Given the description of an element on the screen output the (x, y) to click on. 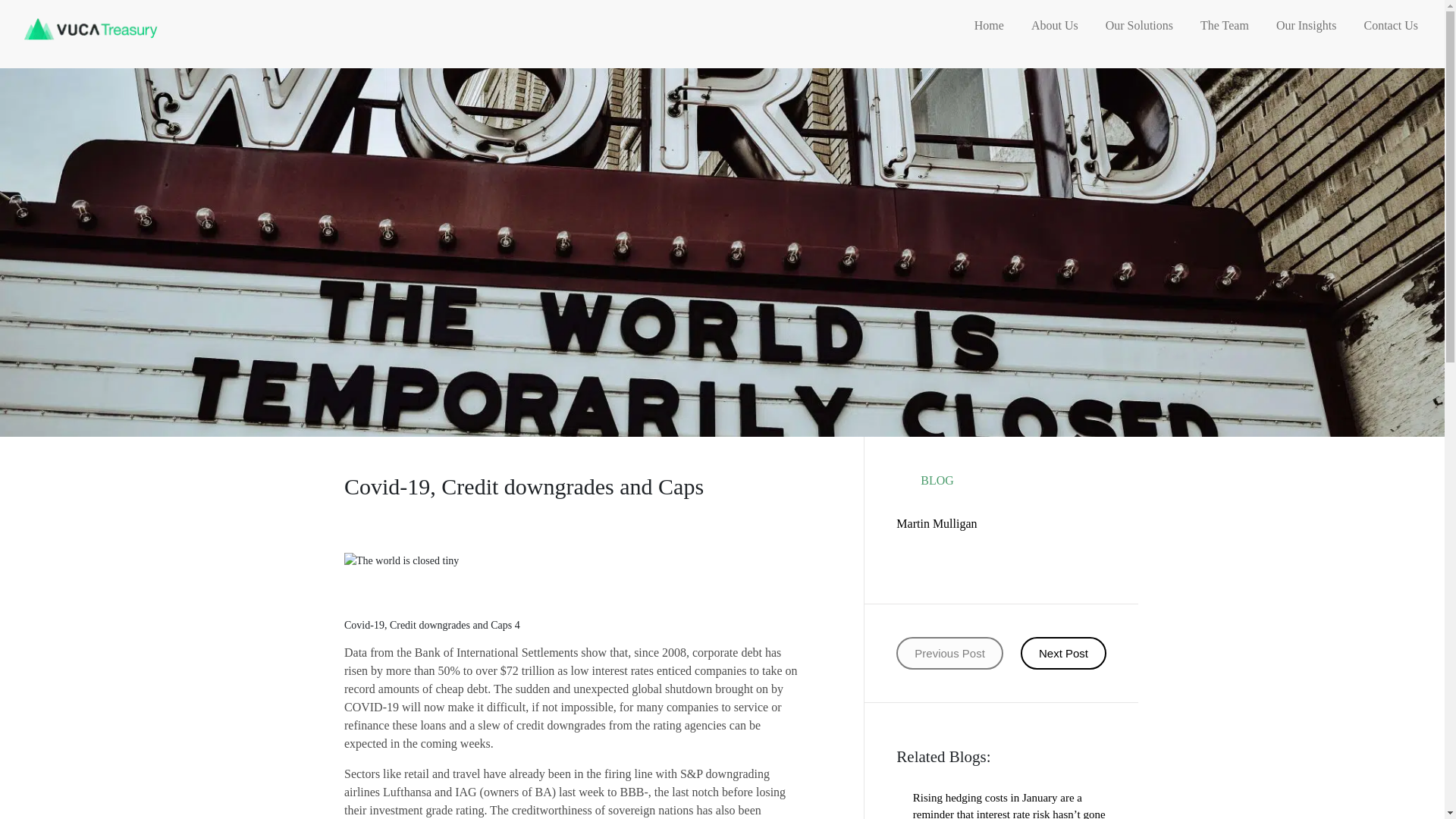
Home (187, 27)
Our Solutions (1139, 27)
About Us (1054, 27)
The Team (1224, 27)
Our Insights (1306, 27)
Next Post (1063, 653)
Share on Twitter (928, 559)
Previous Post (949, 653)
Share on LinkedIn (957, 559)
Share on Facebook (899, 559)
Contact Us (1390, 27)
Covid-19, Credit downgrades and Caps 3 (400, 560)
Home (989, 27)
